Given the description of an element on the screen output the (x, y) to click on. 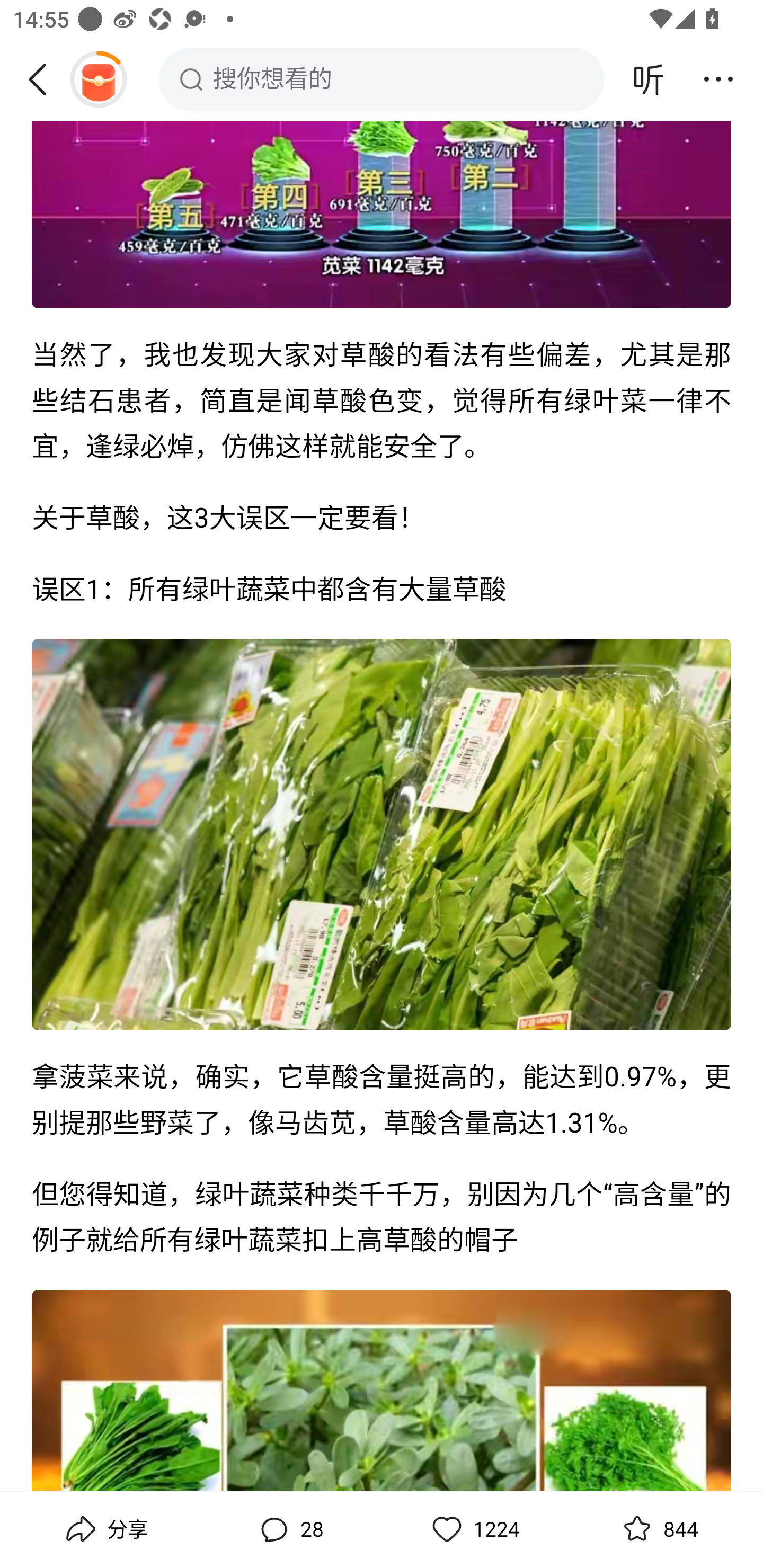
返回 (44, 78)
听头条 (648, 78)
更多操作 (718, 78)
搜你想看的 搜索框，搜你想看的 (381, 79)
阅读赚金币 (98, 79)
图片，点击识别内容 (381, 215)
图片，点击识别内容 (381, 834)
分享 (104, 1529)
评论,28 28 (288, 1529)
收藏,844 844 (658, 1529)
